Given the description of an element on the screen output the (x, y) to click on. 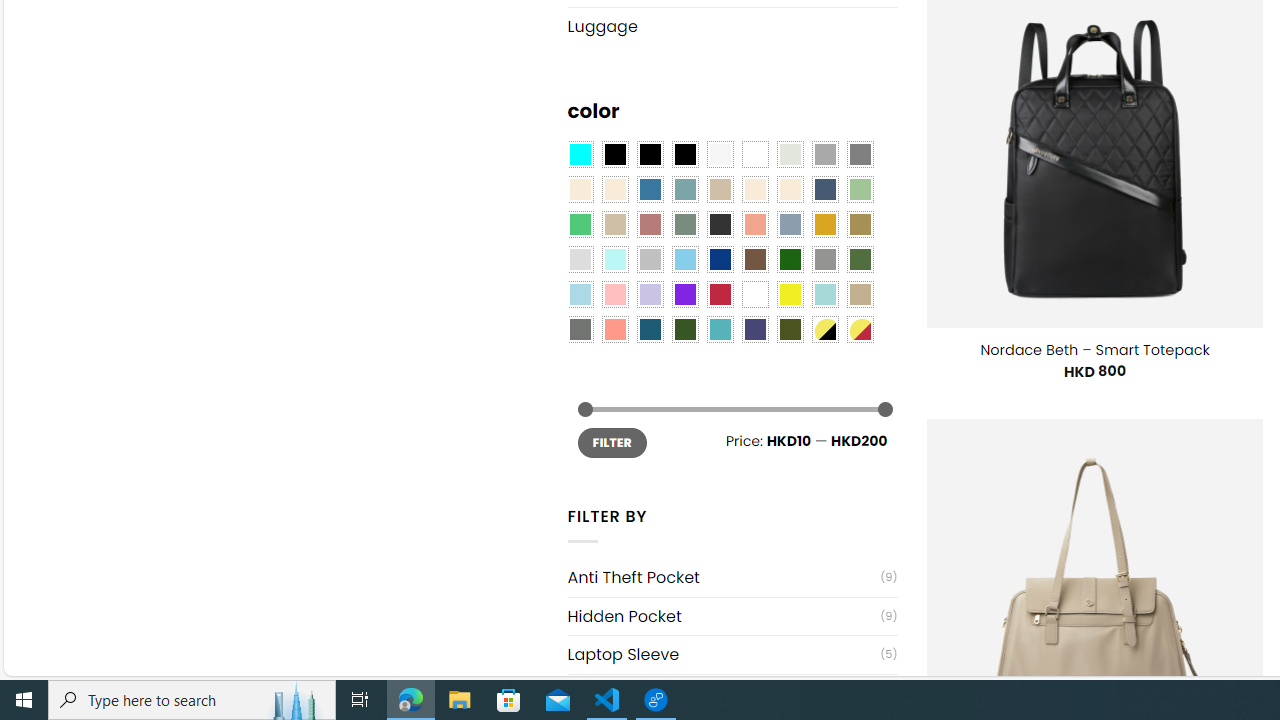
Blue Sage (684, 190)
Khaki (859, 295)
Light Gray (579, 259)
USB Charging Port(5) (732, 692)
Charcoal (719, 224)
Brownie (719, 190)
